Given the description of an element on the screen output the (x, y) to click on. 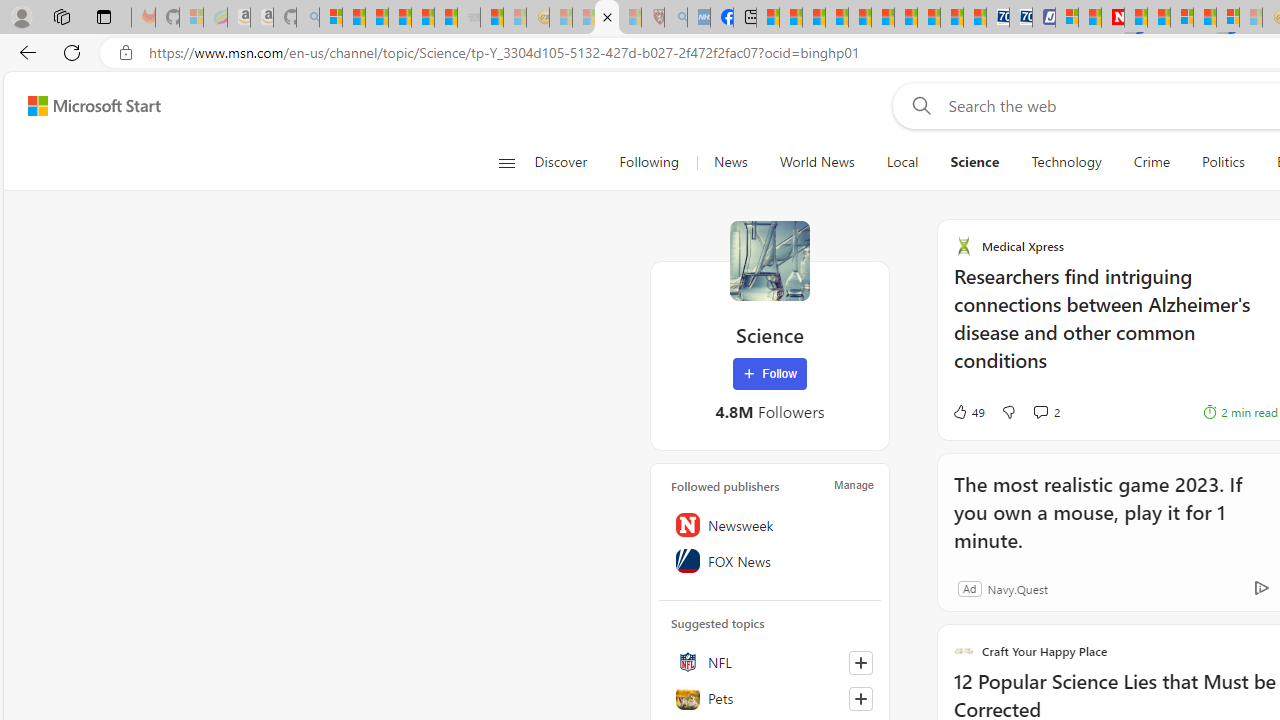
New Report Confirms 2023 Was Record Hot | Watch (422, 17)
Combat Siege - Sleeping (468, 17)
Cheap Hotels - Save70.com (1020, 17)
